Given the description of an element on the screen output the (x, y) to click on. 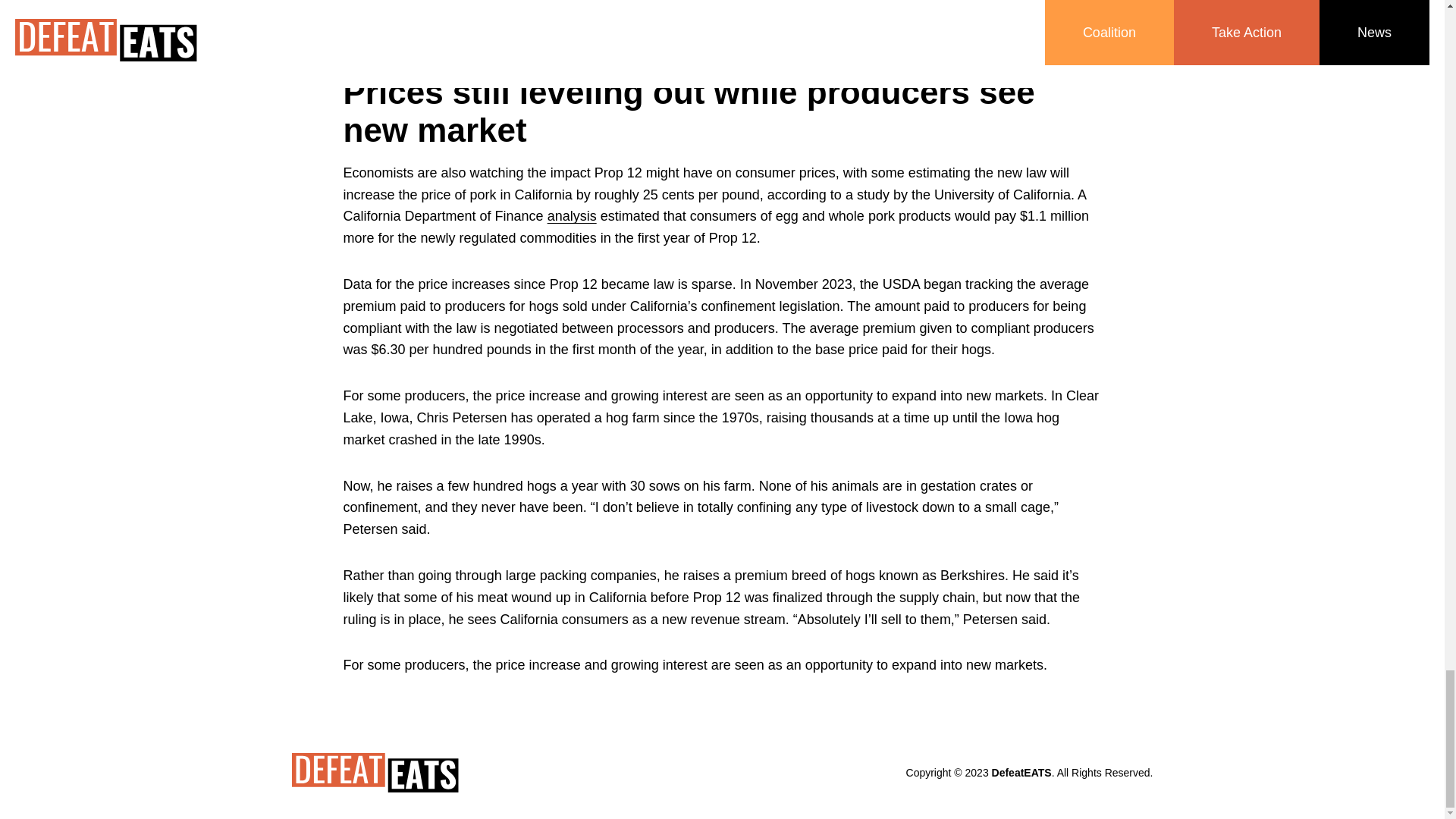
told the Brownfield radio network (627, 6)
analysis (571, 215)
